Given the description of an element on the screen output the (x, y) to click on. 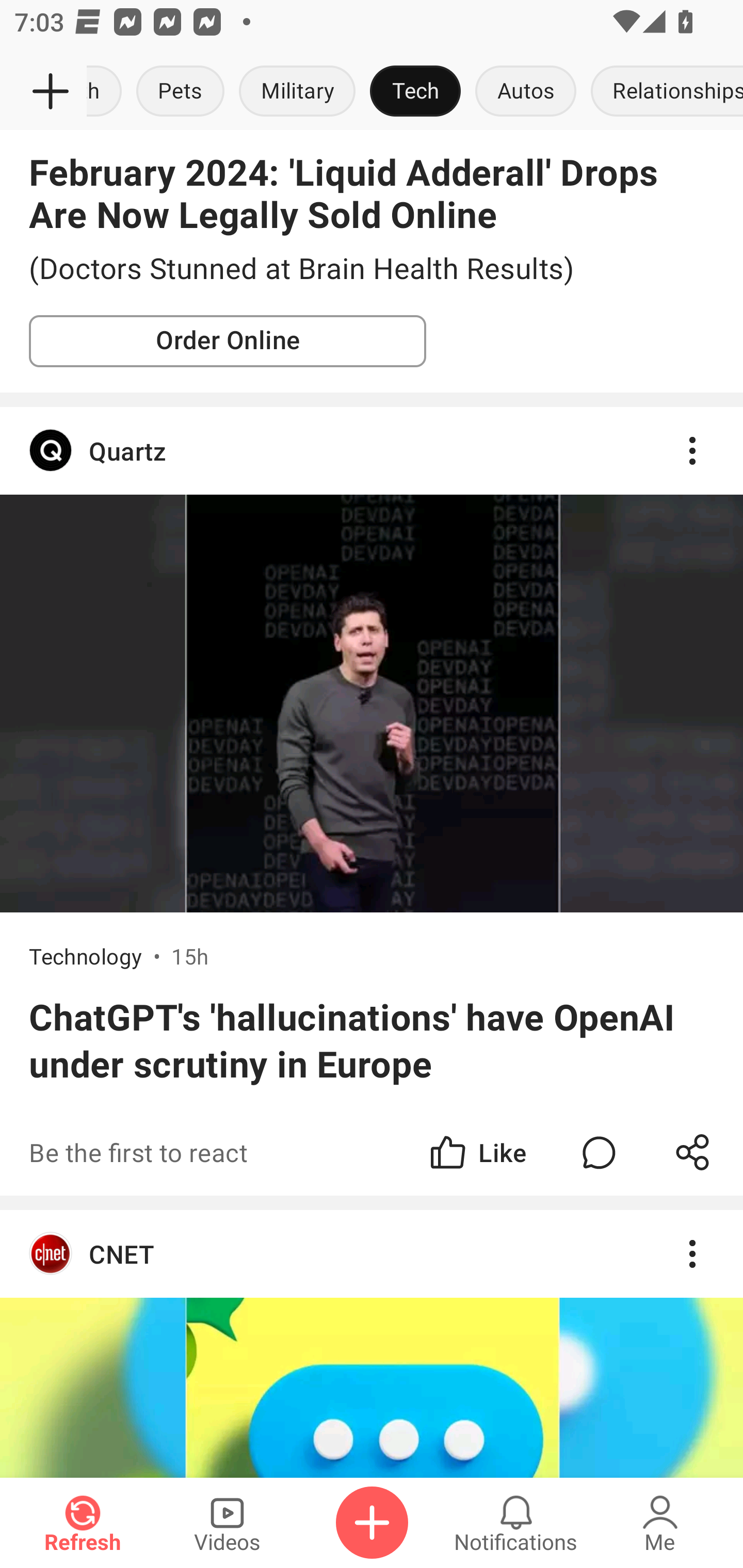
Pets (180, 91)
Military (296, 91)
Tech (415, 91)
Autos (525, 91)
Relationships (663, 91)
(Doctors Stunned at Brain Health Results) (371, 269)
Order Online (227, 340)
Quartz (371, 450)
Be the first to react (244, 1151)
Like (476, 1151)
CNET (371, 1254)
Videos (227, 1522)
Notifications (516, 1522)
Me (659, 1522)
